Given the description of an element on the screen output the (x, y) to click on. 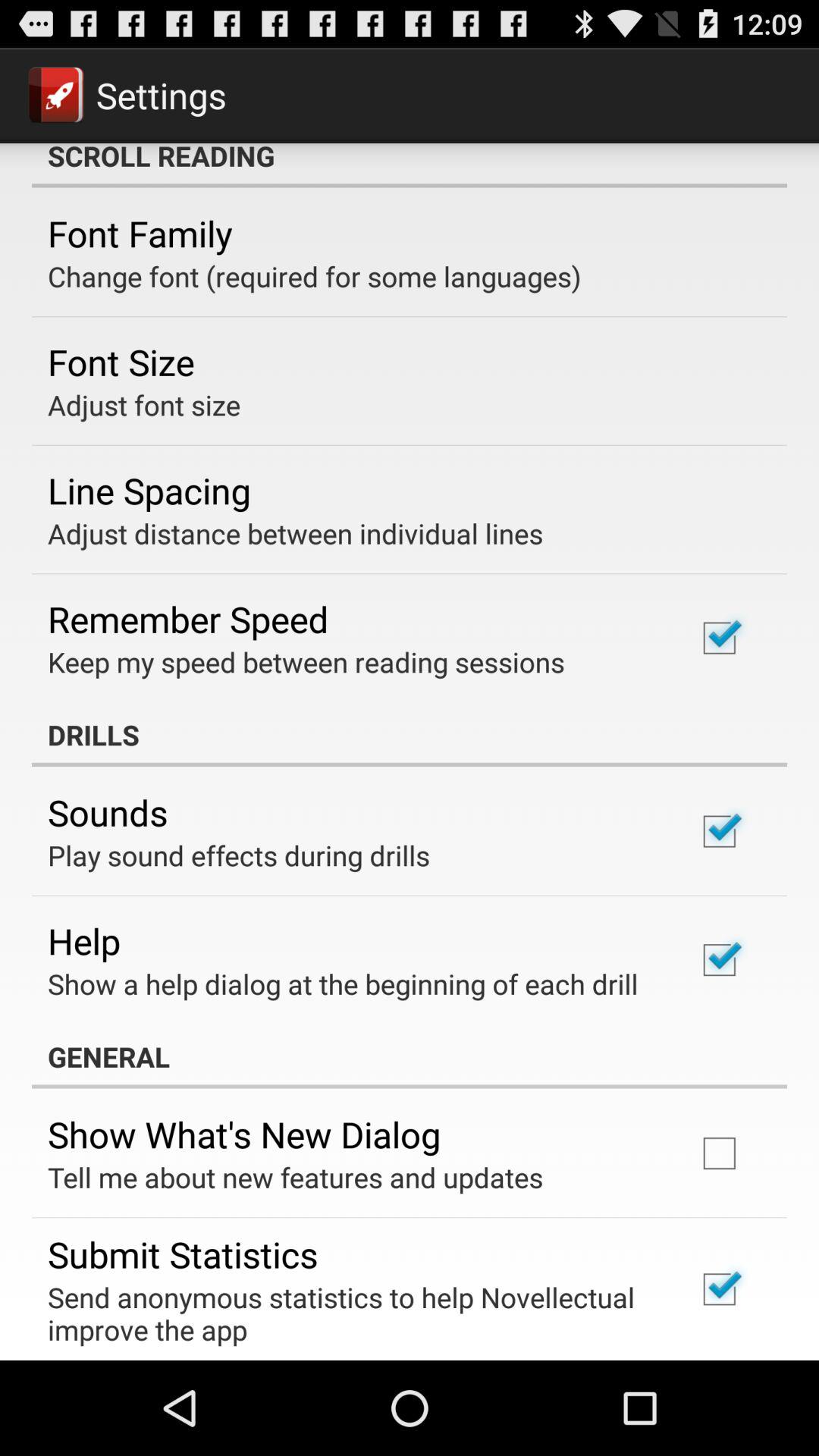
tap icon below the scroll reading item (139, 233)
